Given the description of an element on the screen output the (x, y) to click on. 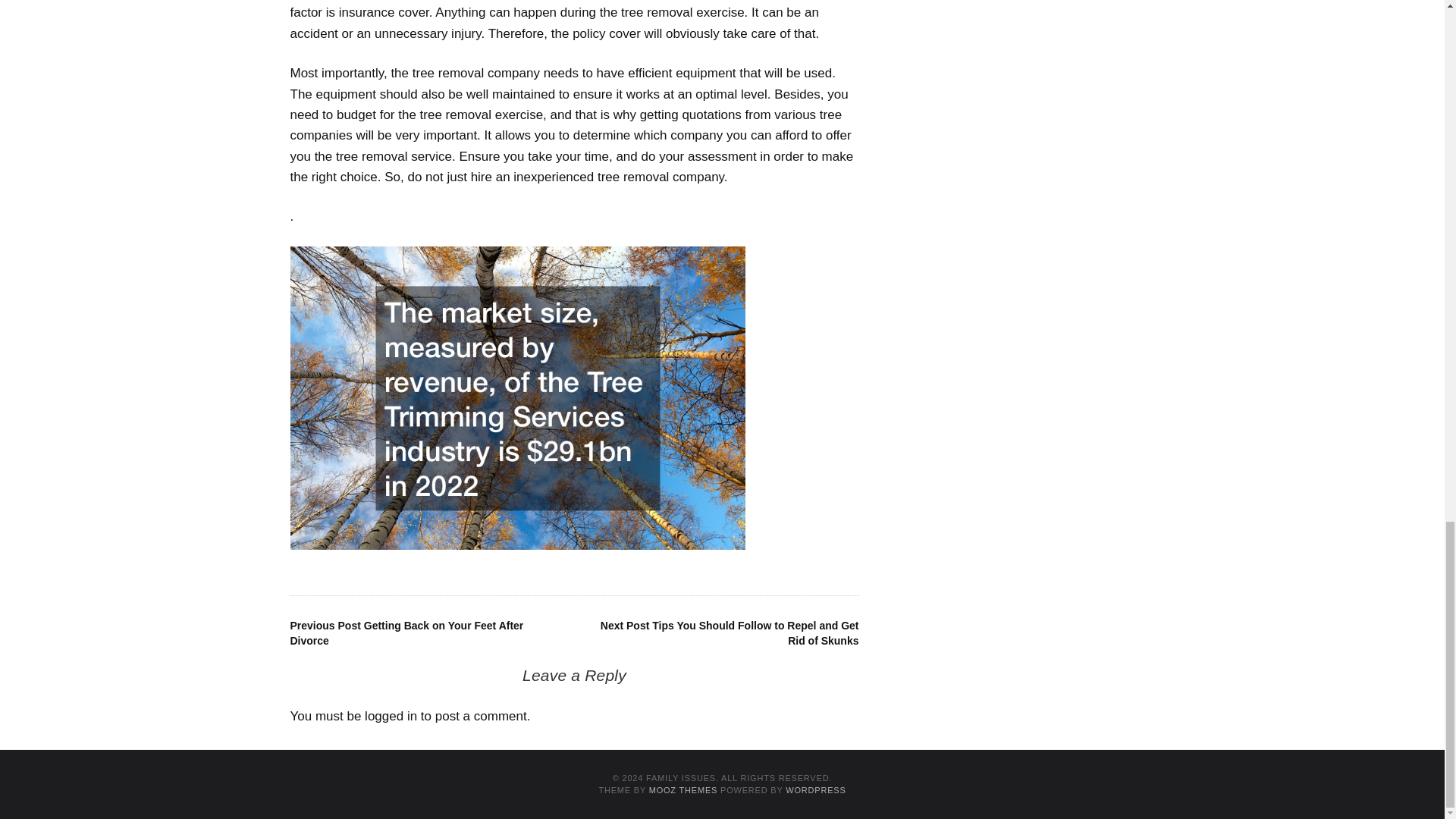
MOOZ THEMES (683, 789)
Previous Post Getting Back on Your Feet After Divorce (405, 633)
WORDPRESS (815, 789)
logged in (390, 716)
